Given the description of an element on the screen output the (x, y) to click on. 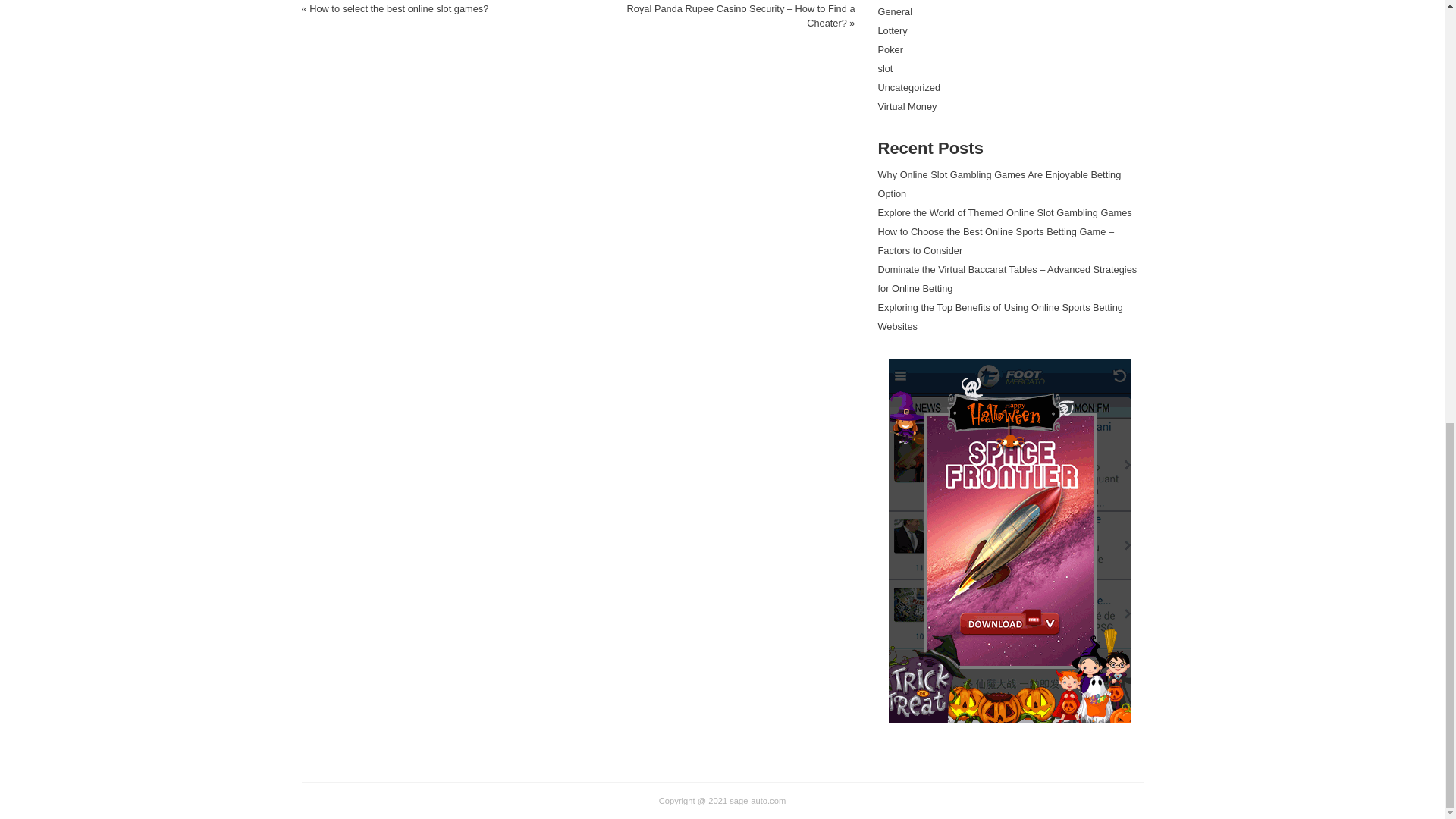
General (894, 11)
Lottery (892, 30)
Virtual Money (907, 106)
slot (885, 68)
Why Online Slot Gambling Games Are Enjoyable Betting Option (999, 183)
Uncategorized (908, 87)
How to select the best online slot games? (397, 8)
Explore the World of Themed Online Slot Gambling Games (1004, 212)
Poker (889, 49)
